Given the description of an element on the screen output the (x, y) to click on. 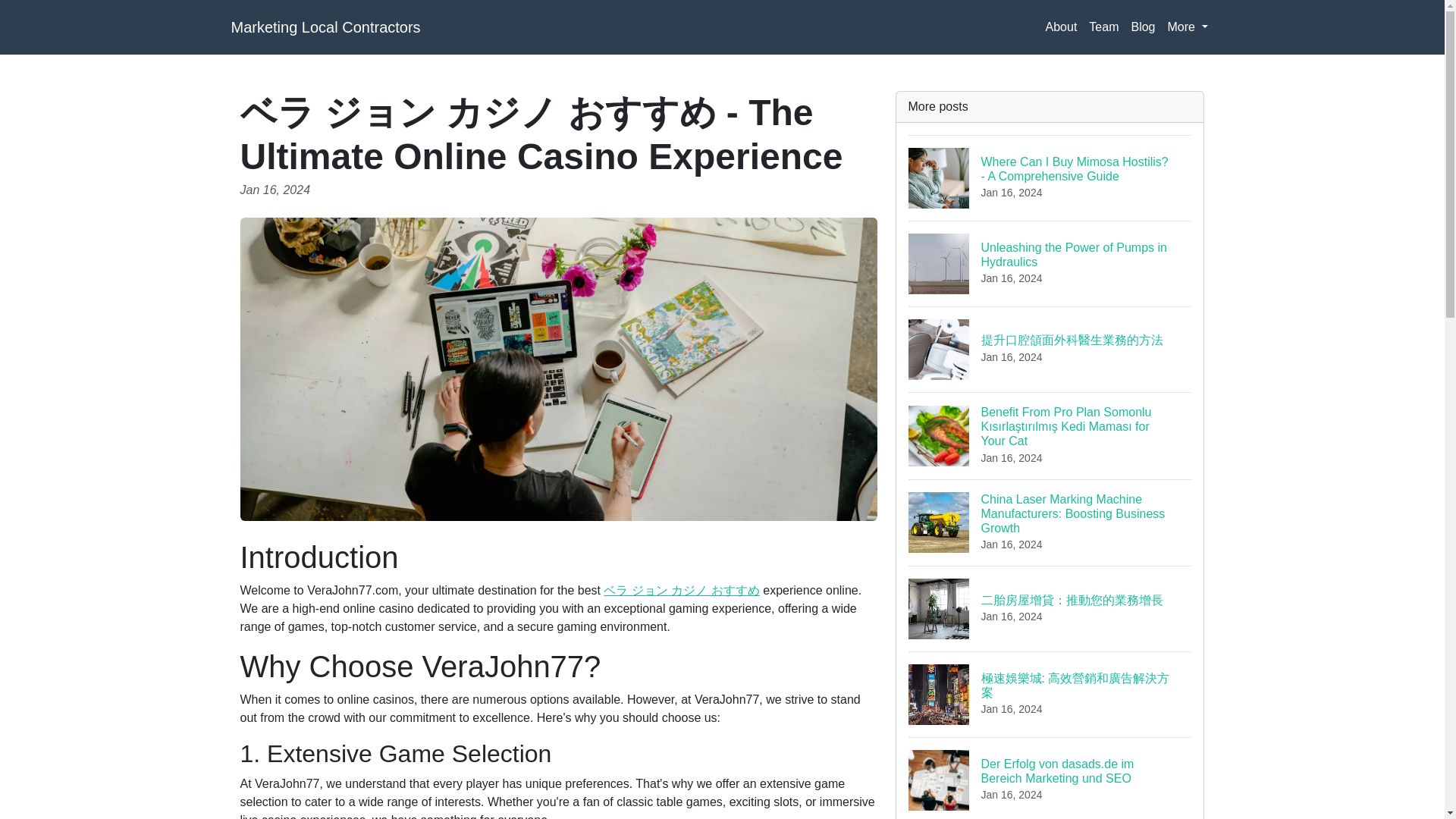
More (1187, 27)
Team (1103, 27)
Marketing Local Contractors (325, 27)
Blog (1142, 27)
About (1050, 263)
